Given the description of an element on the screen output the (x, y) to click on. 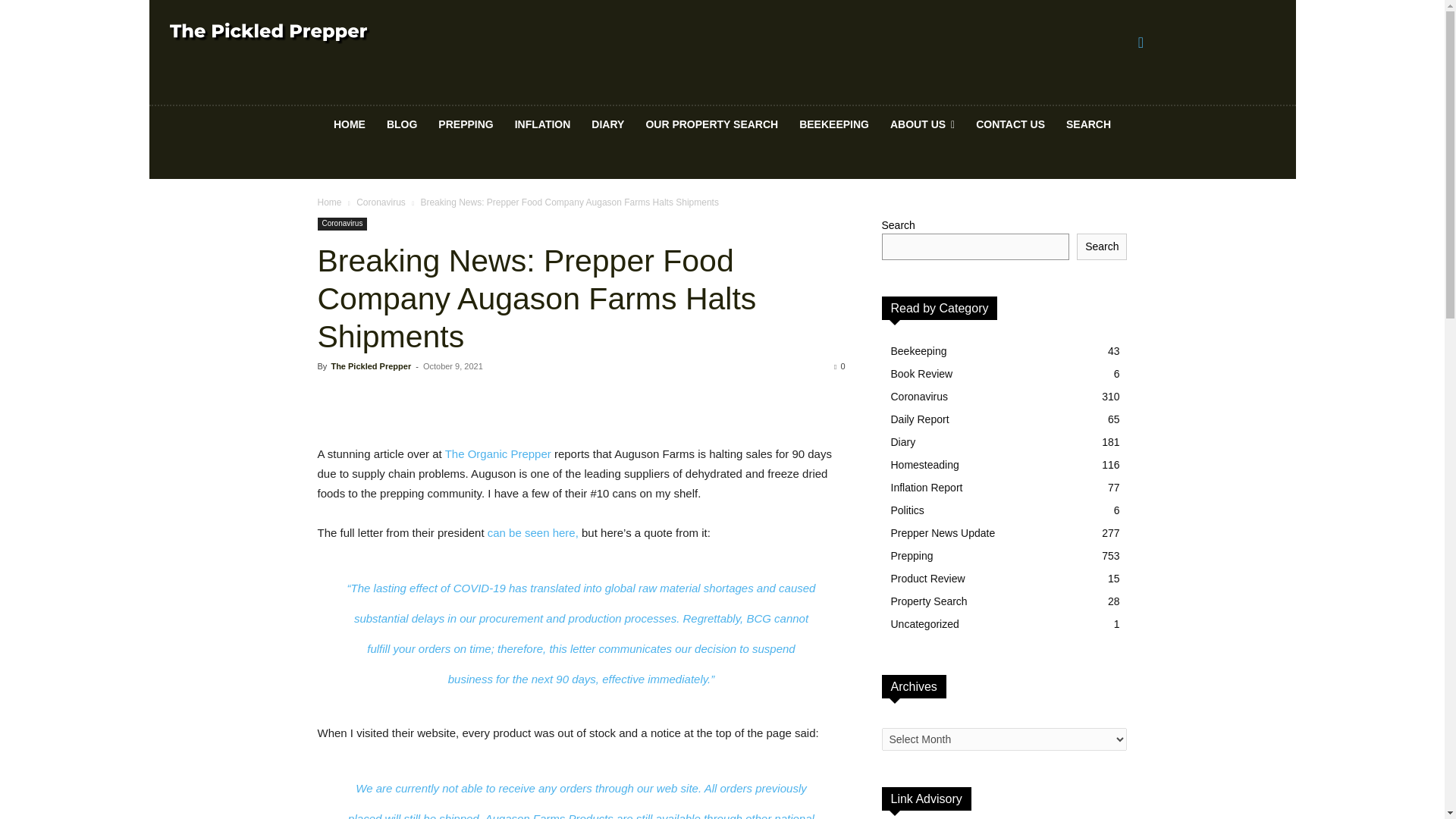
Home (328, 202)
OUR PROPERTY SEARCH (711, 124)
View all posts in Coronavirus (381, 202)
HOME (349, 124)
INFLATION (541, 124)
Coronavirus (341, 223)
The Pickled Prepper Blog (269, 33)
0 (839, 366)
ABOUT US (922, 124)
BEEKEEPING (834, 124)
